Given the description of an element on the screen output the (x, y) to click on. 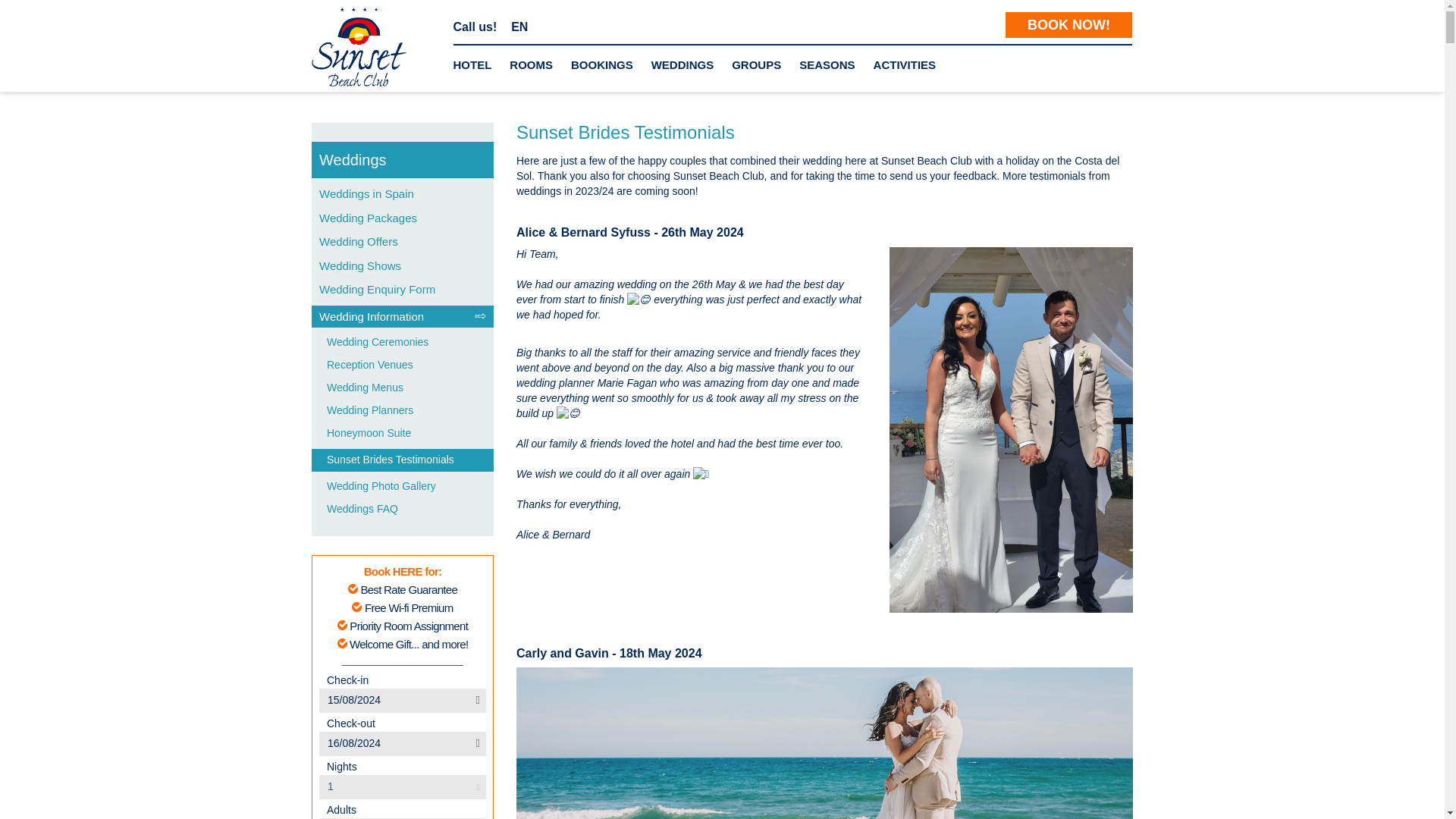
Call us! (474, 26)
Carly and Gavin 18th May 2024 (824, 743)
HOTEL (472, 64)
EN (519, 26)
BOOK NOW! (1069, 24)
